Given the description of an element on the screen output the (x, y) to click on. 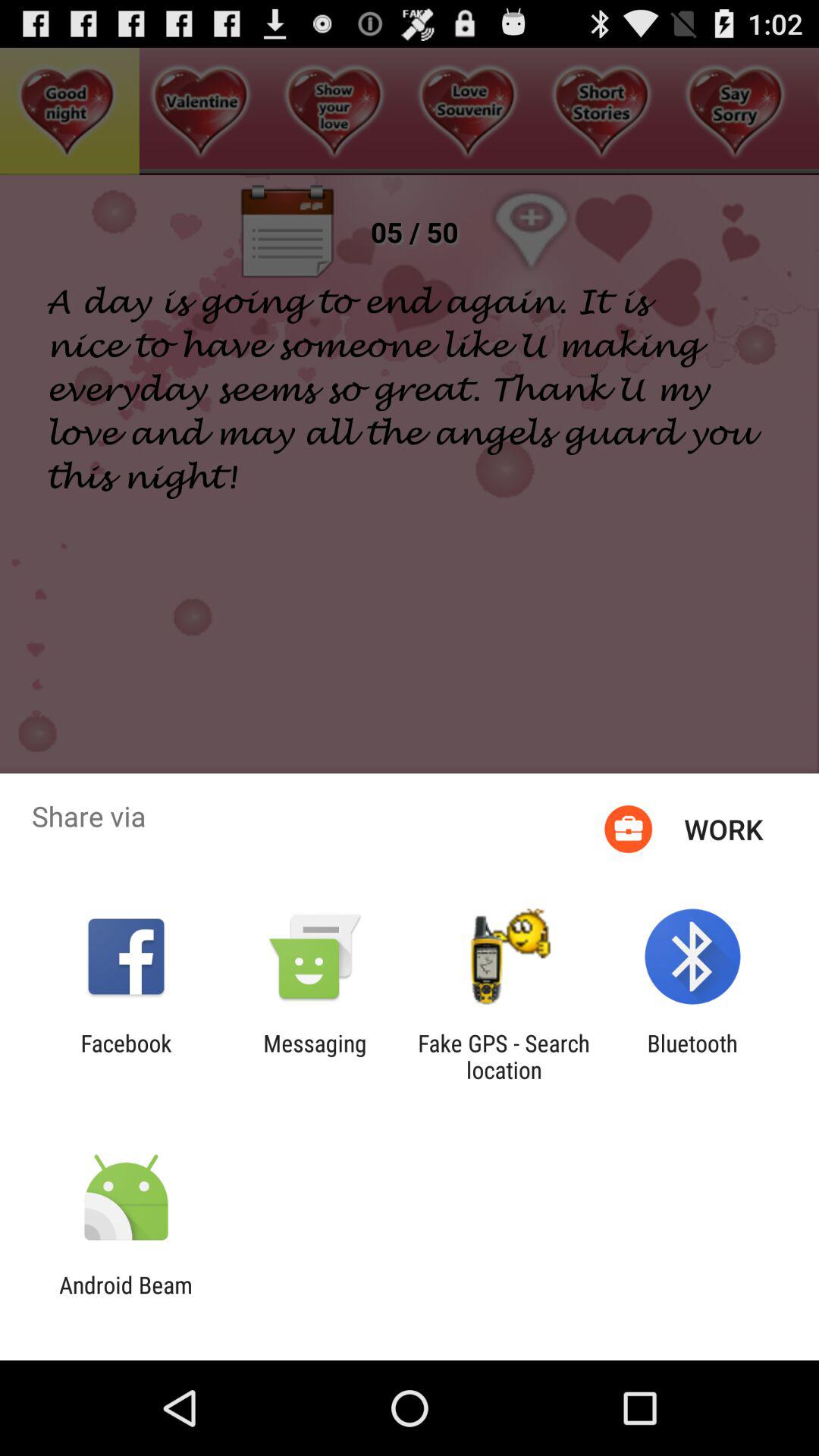
select the bluetooth at the bottom right corner (692, 1056)
